Given the description of an element on the screen output the (x, y) to click on. 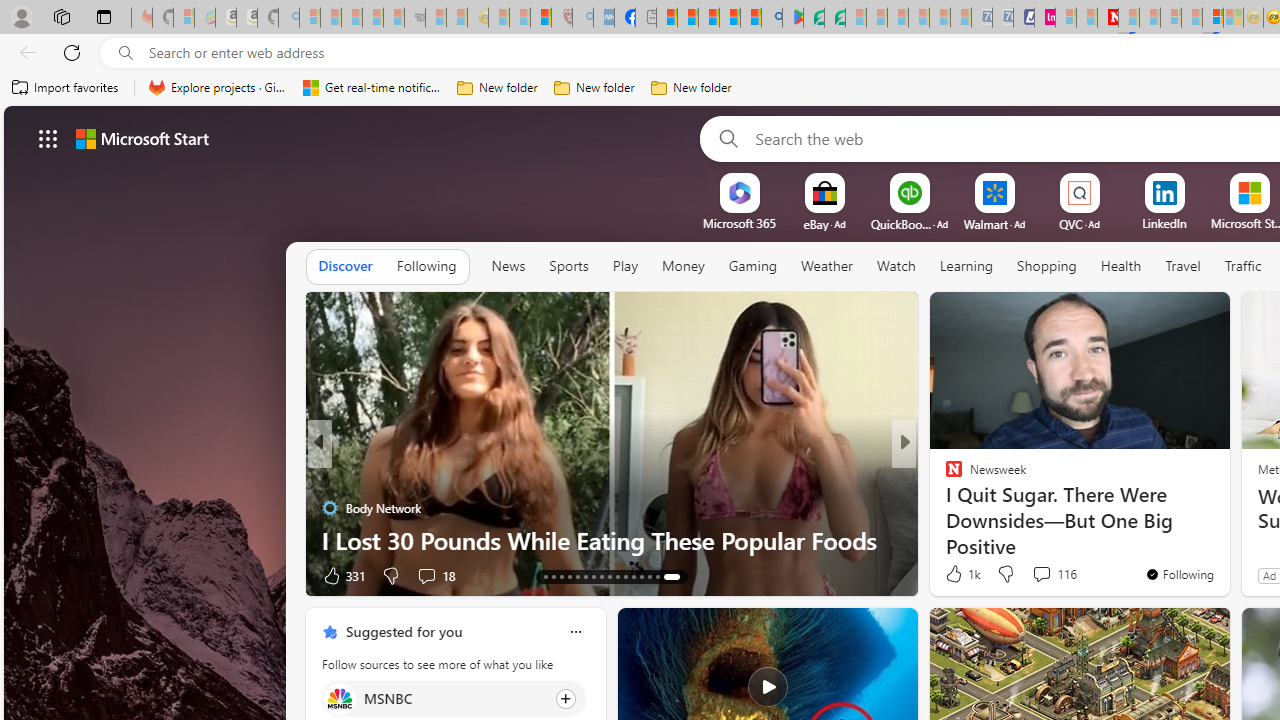
Click to follow source MSNBC (453, 698)
AutomationID: tab-17 (577, 576)
View comments 116 Comment (1053, 574)
You're following Newsweek (1179, 573)
AutomationID: tab-22 (617, 576)
